Given the description of an element on the screen output the (x, y) to click on. 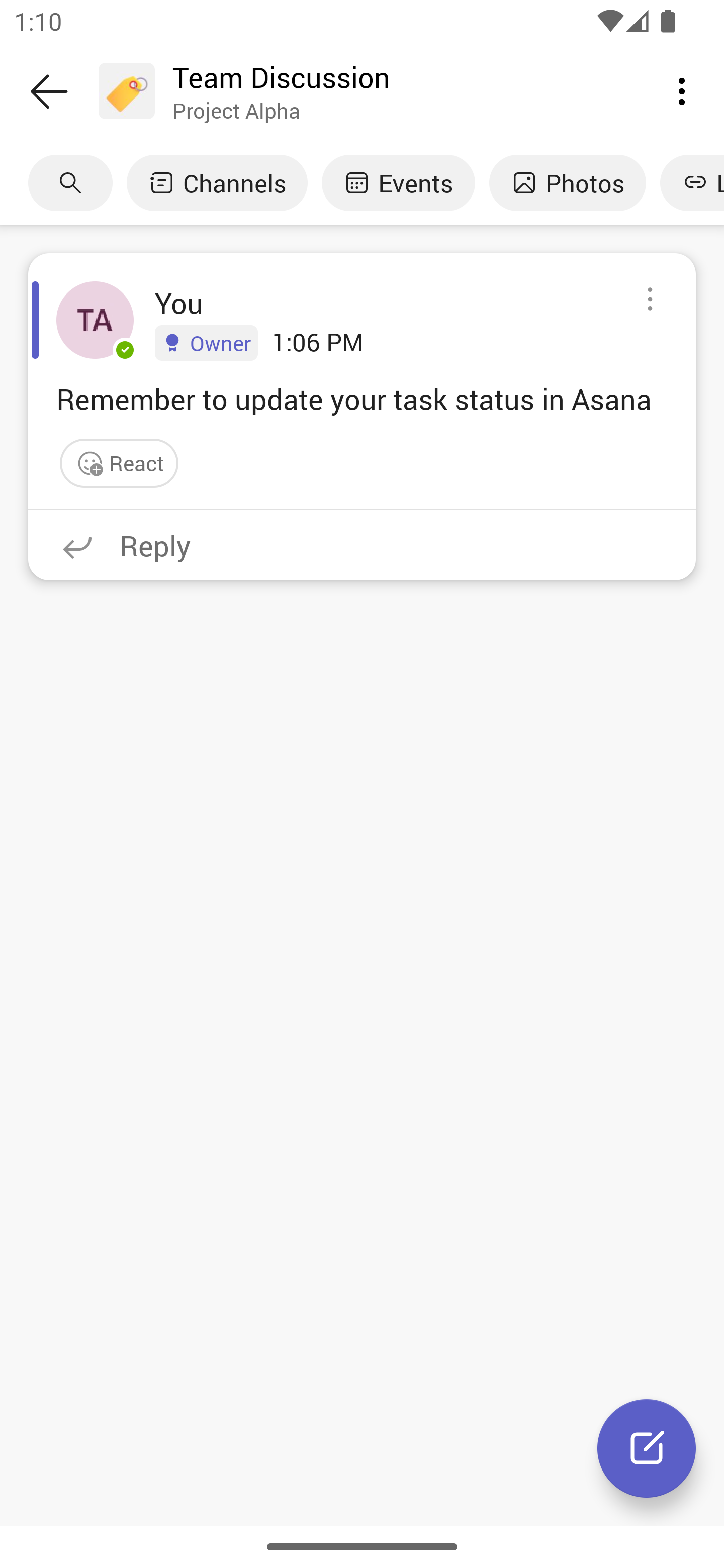
Back (49, 91)
More options (681, 90)
Search tab, 1 of 6 (70, 183)
Channels tab, 2 of 6 Channels (216, 183)
Events tab, 3 of 6 Events (397, 183)
Photos tab, 4 of 6 Photos (567, 183)
Message options button (650, 299)
Test Appium profile picture, Status: Available (94, 319)
You (178, 302)
Owner (205, 342)
Remember to update your task status in Asana (361, 398)
Open reactions React (119, 463)
Reply (361, 544)
New conversation (646, 1447)
